Given the description of an element on the screen output the (x, y) to click on. 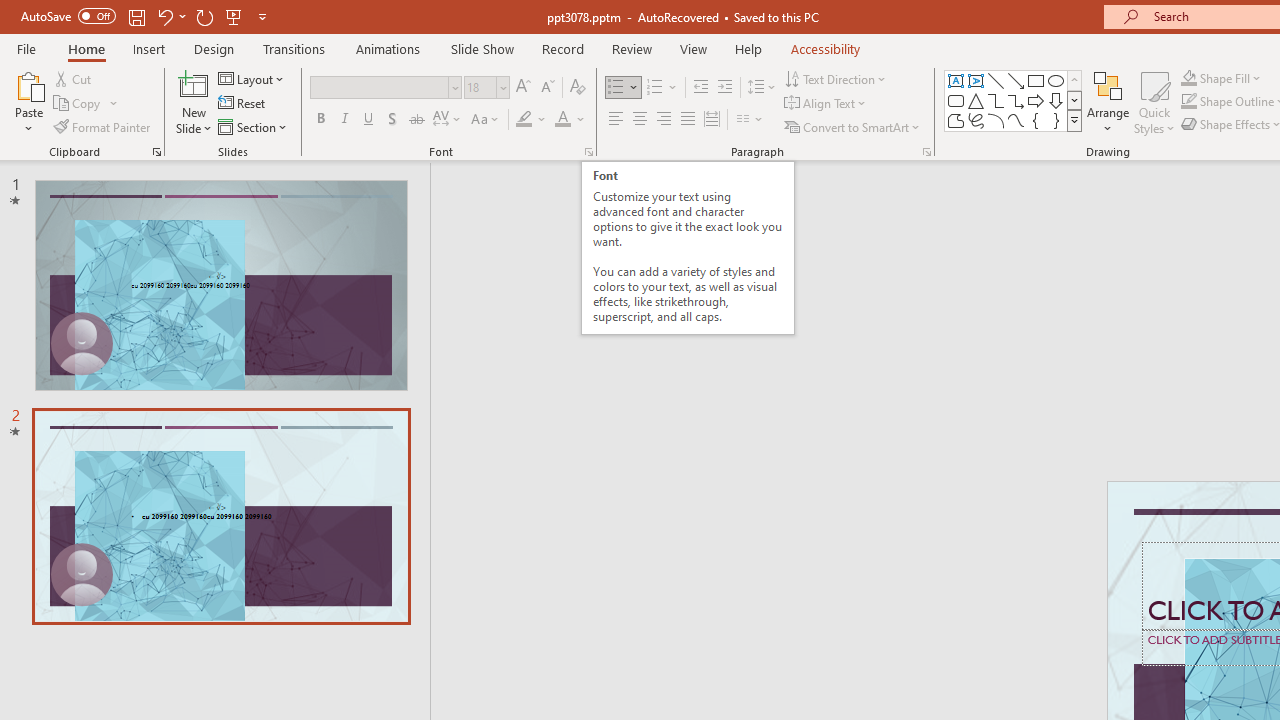
Undo (164, 15)
New Slide (193, 102)
Paste (28, 102)
Underline (369, 119)
Connector: Elbow Arrow (1016, 100)
Font Color (569, 119)
Font Size (486, 87)
Font... (588, 151)
System (10, 11)
Curve (1016, 120)
Increase Indent (725, 87)
New Slide (193, 84)
Row up (1074, 79)
Layout (252, 78)
Arc (995, 120)
